Given the description of an element on the screen output the (x, y) to click on. 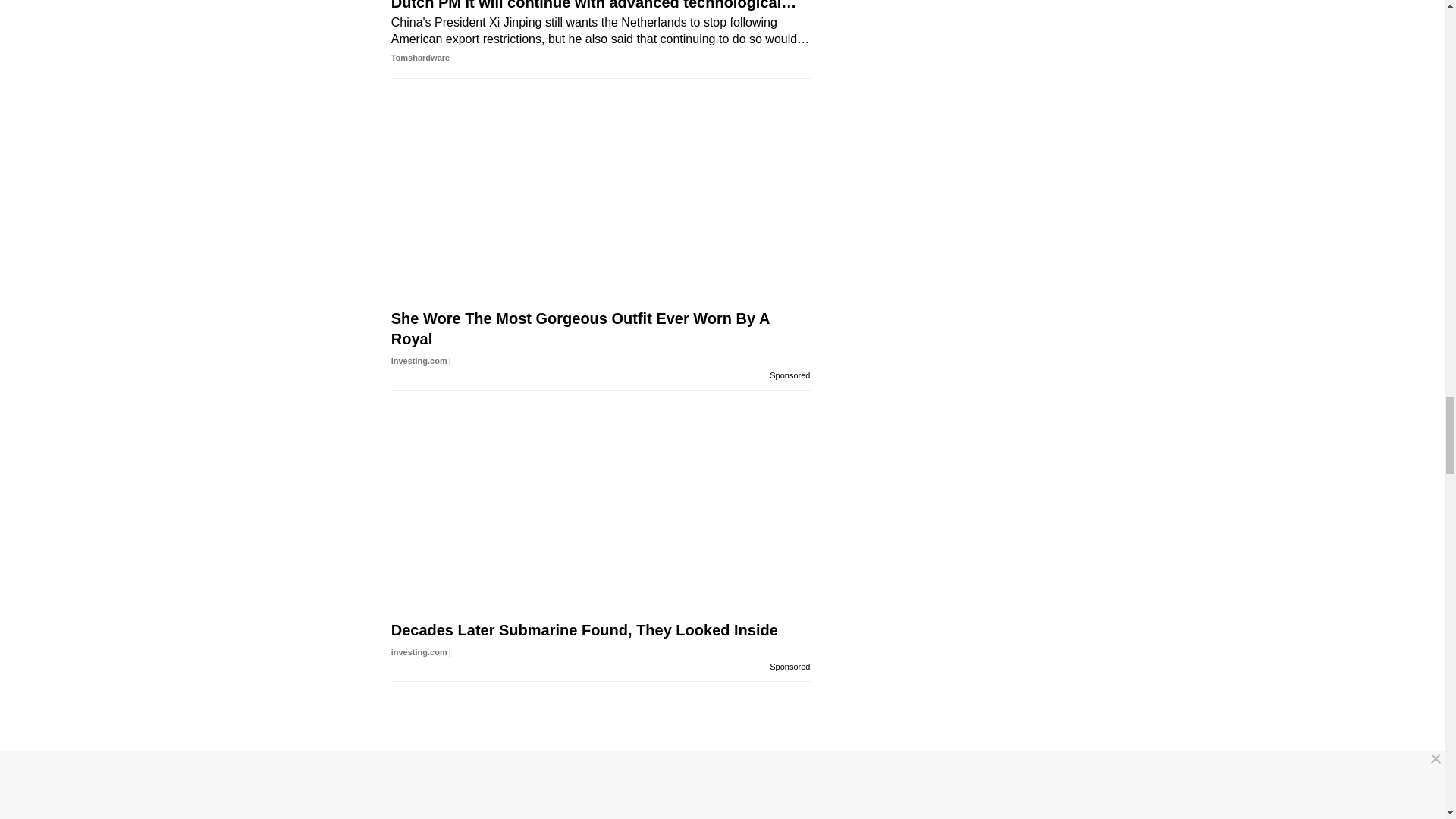
She Wore The Most Gorgeous Outfit Ever Worn By A Royal (600, 187)
She Wore The Most Gorgeous Outfit Ever Worn By A Royal (600, 327)
